Given the description of an element on the screen output the (x, y) to click on. 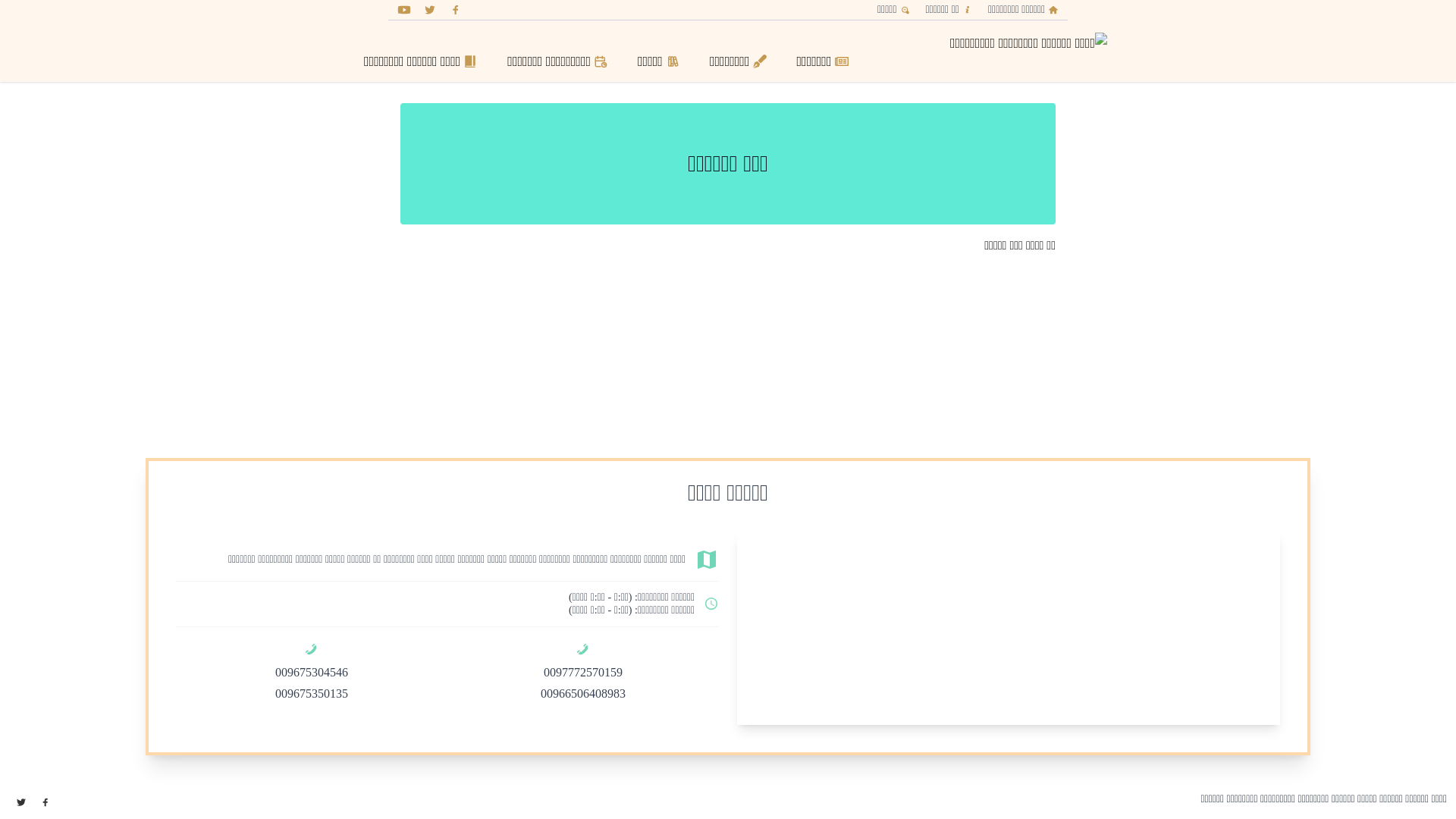
009675304546 Element type: text (311, 671)
00966506408983 Element type: text (582, 693)
0097772570159 Element type: text (582, 671)
009675350135 Element type: text (311, 693)
